Given the description of an element on the screen output the (x, y) to click on. 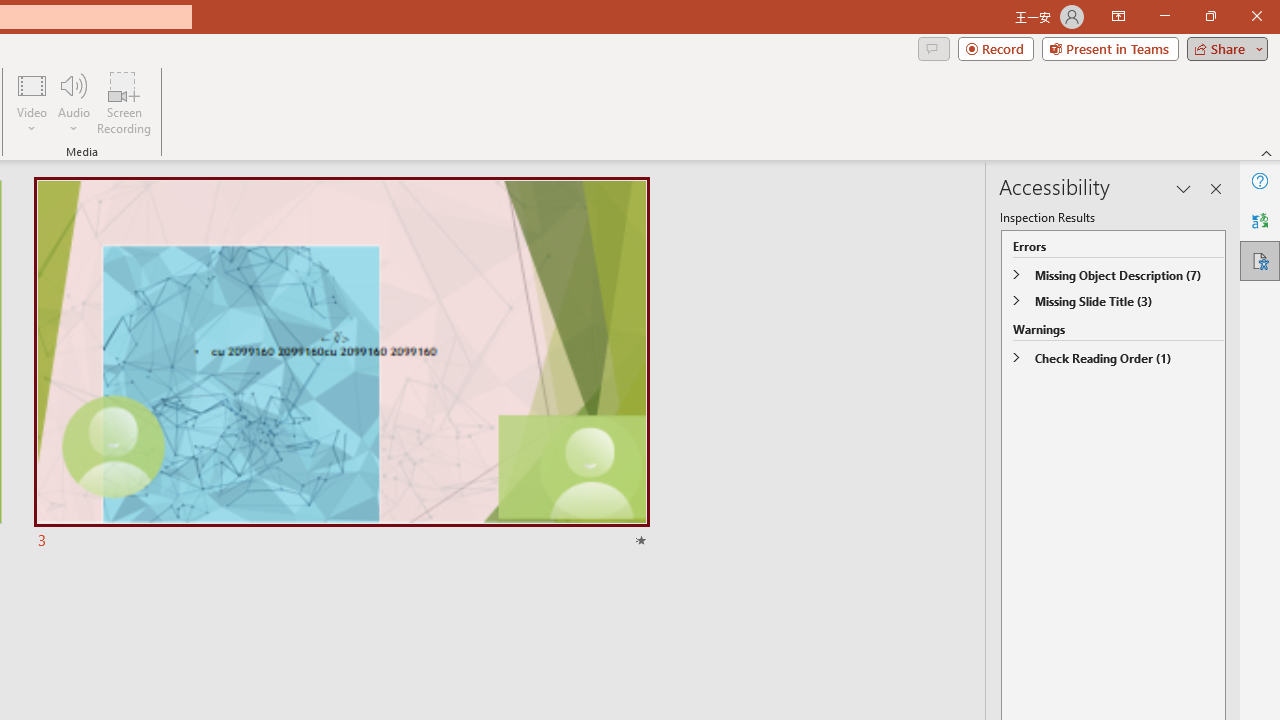
Audio (73, 102)
